Given the description of an element on the screen output the (x, y) to click on. 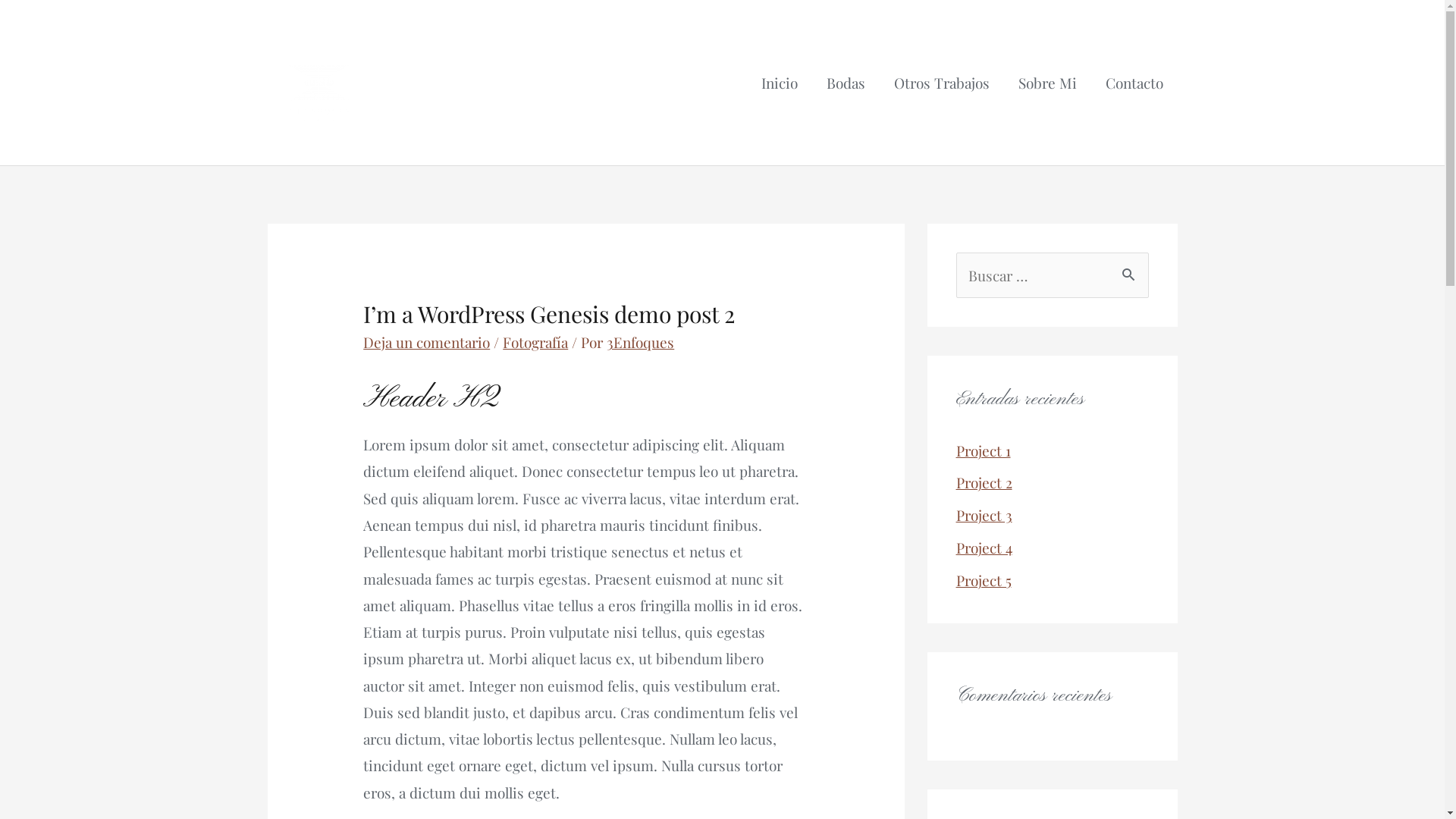
Otros Trabajos Element type: text (941, 82)
Sobre Mi Element type: text (1047, 82)
3Enfoques Element type: text (640, 341)
Project 1 Element type: text (982, 449)
Bodas Element type: text (844, 82)
Contacto Element type: text (1133, 82)
Inicio Element type: text (778, 82)
Deja un comentario Element type: text (426, 341)
Project 3 Element type: text (983, 514)
Buscar Element type: text (1131, 269)
Project 4 Element type: text (983, 547)
Project 2 Element type: text (983, 482)
Project 5 Element type: text (982, 579)
